Given the description of an element on the screen output the (x, y) to click on. 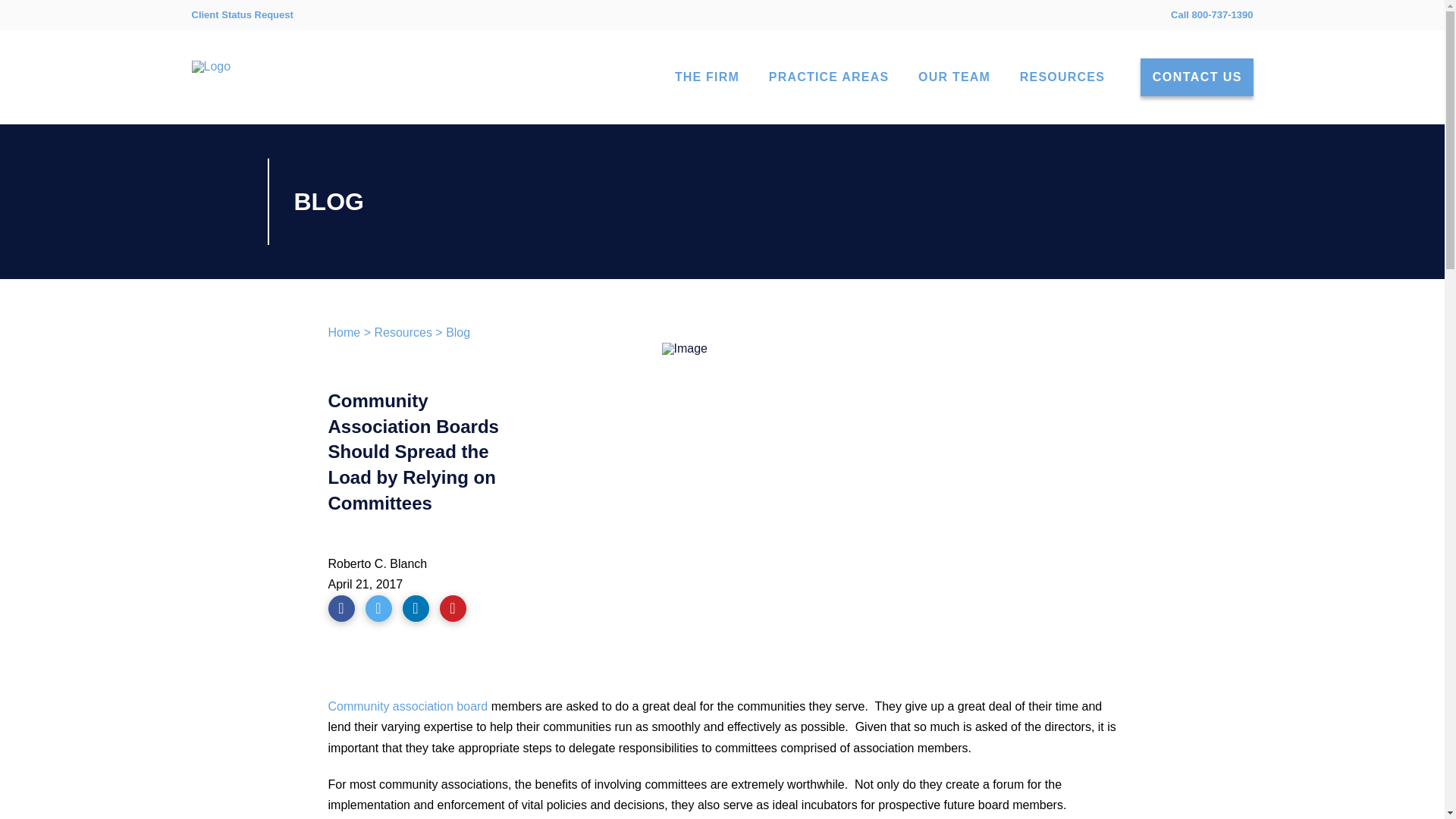
RESOURCES (1061, 76)
Blog (457, 332)
Call 800-737-1390 (1211, 14)
Resources (402, 332)
THE FIRM (706, 76)
Community association board (407, 706)
Client Status Request (241, 15)
OUR TEAM (953, 76)
Home (343, 332)
PRACTICE AREAS (828, 76)
